Given the description of an element on the screen output the (x, y) to click on. 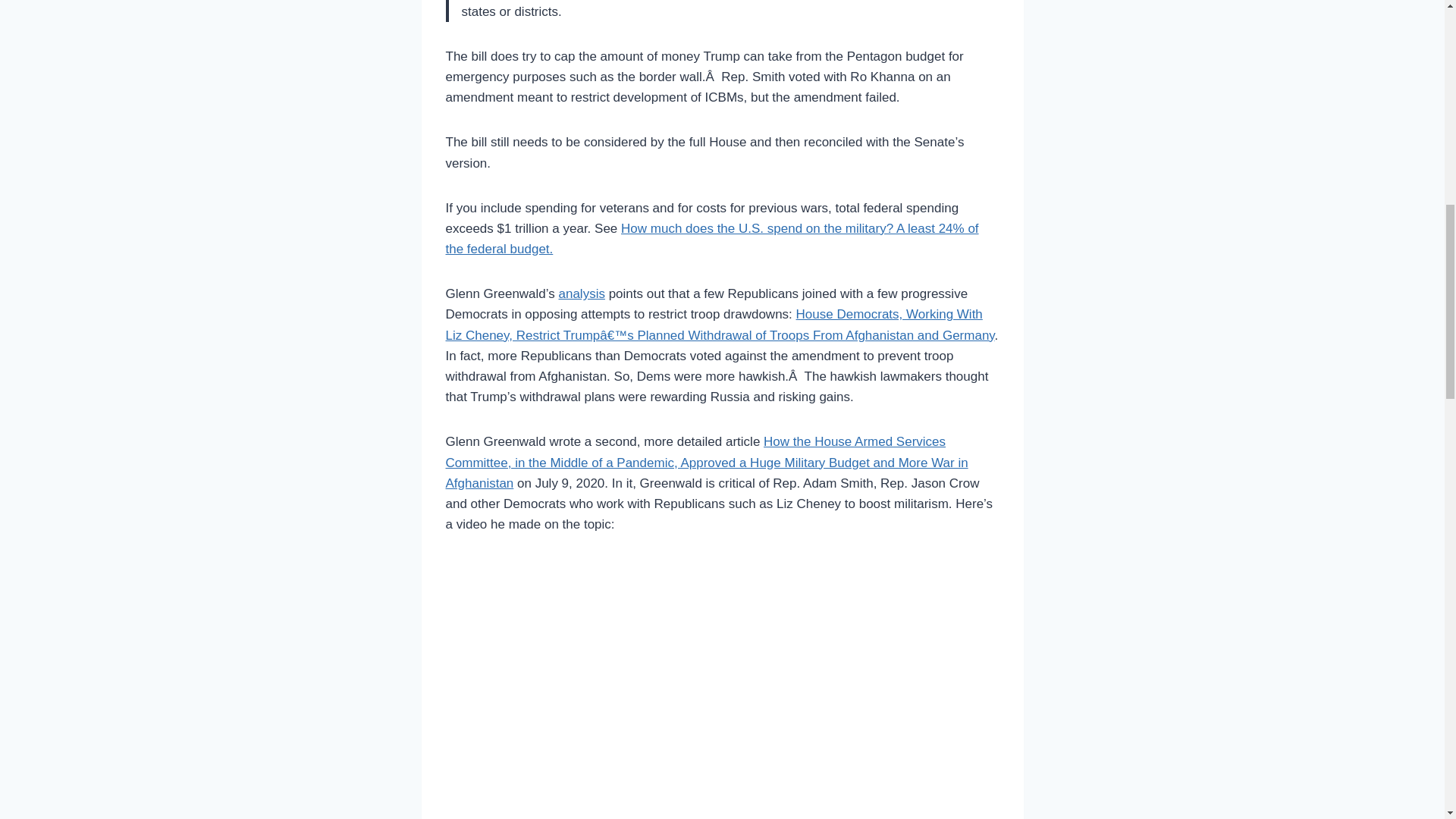
analysis (580, 293)
